Given the description of an element on the screen output the (x, y) to click on. 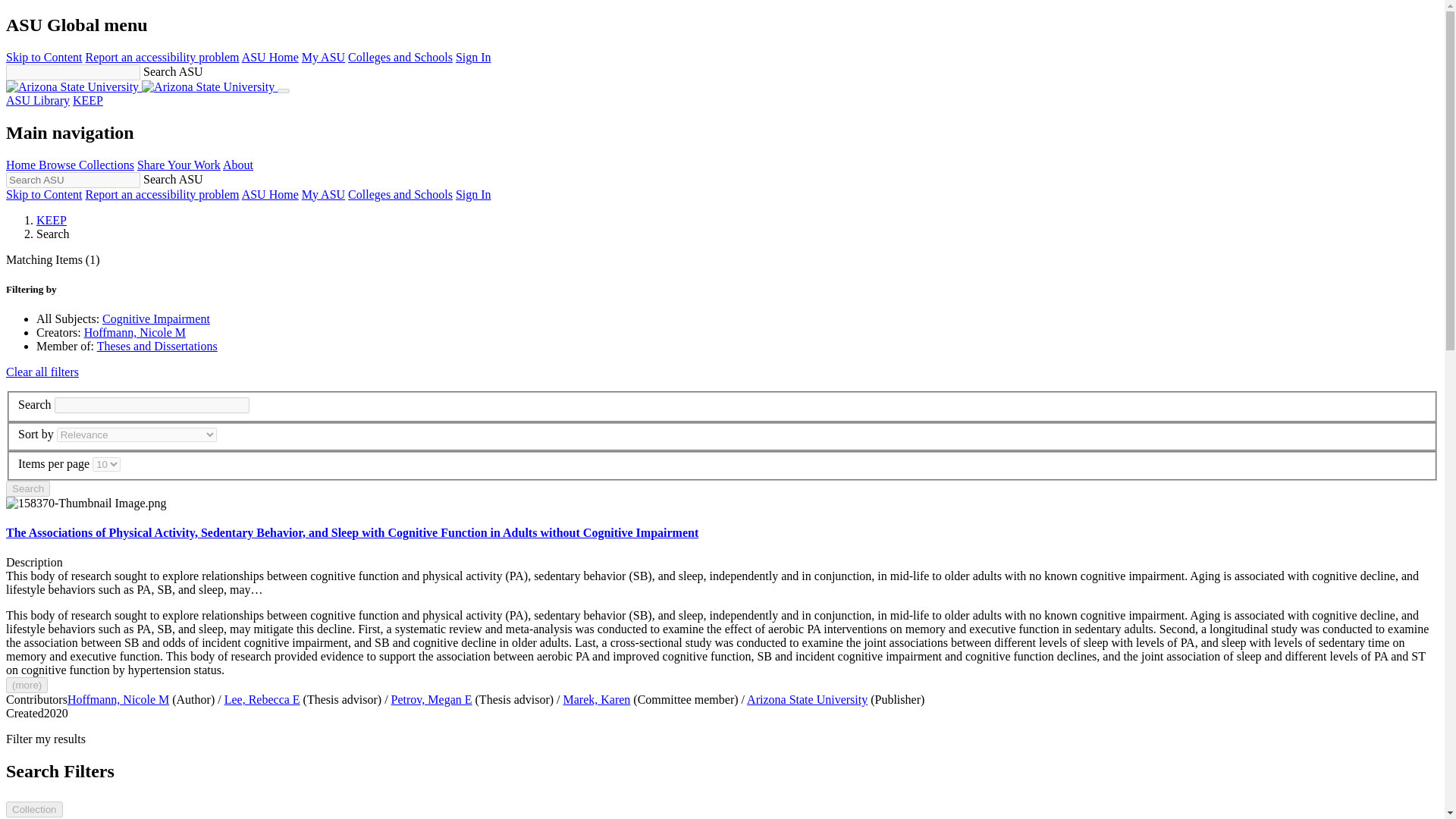
Cognitive Impairment (155, 318)
ASU Home (269, 194)
My ASU (323, 56)
Clear all filters (41, 371)
ASU Library (37, 100)
Skip to Content (43, 56)
Marek, Karen (596, 698)
ASU Home (269, 194)
Screen reader link to the accessibility page (161, 56)
Colleges and Schools (399, 194)
Screen reader link to the content (43, 194)
ASU Home (269, 56)
KEEP (51, 219)
Petrov, Megan E (431, 698)
Clear all filters (41, 371)
